Given the description of an element on the screen output the (x, y) to click on. 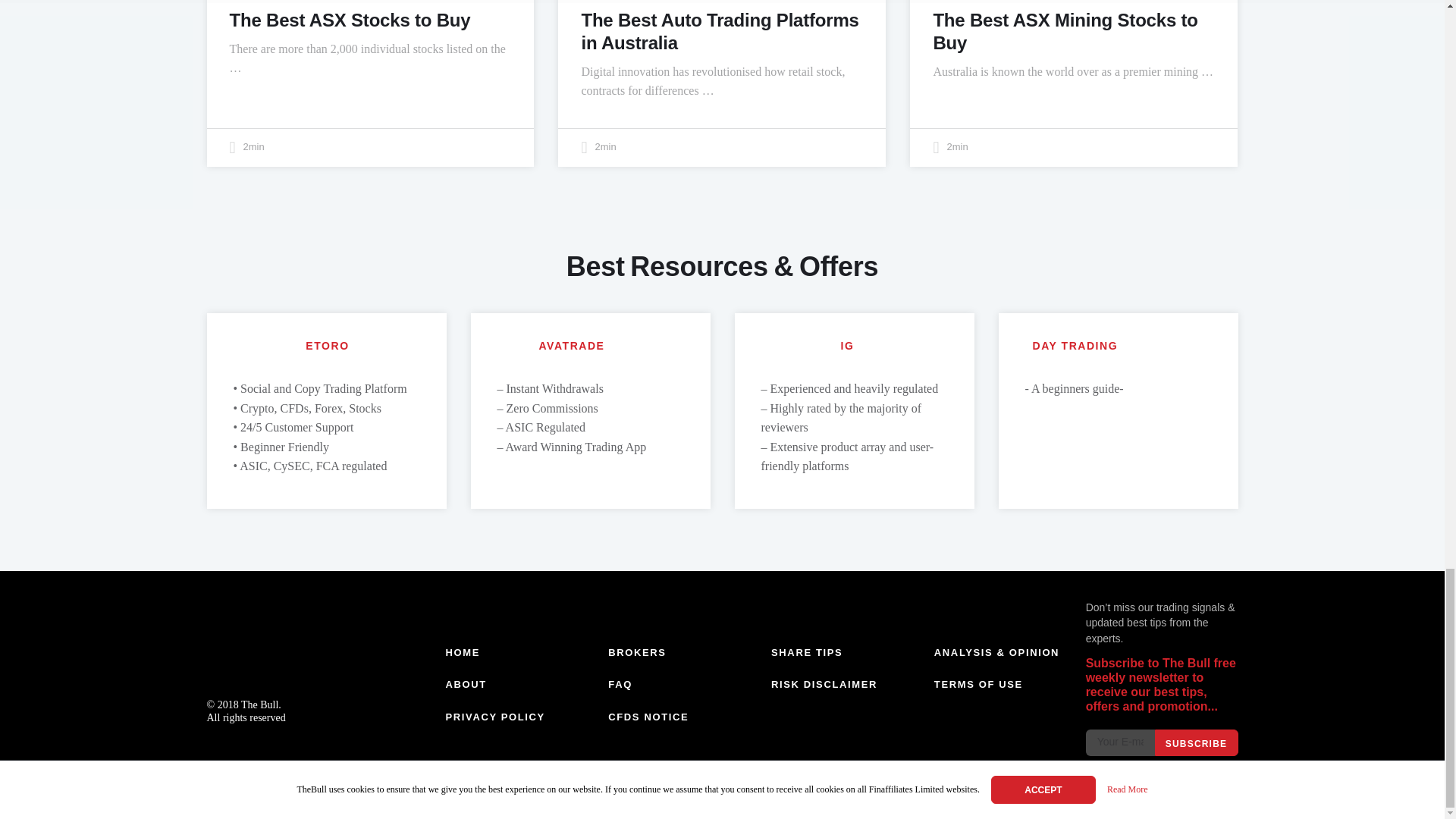
The Best ASX Mining Stocks to Buy (1064, 31)
The Best Auto Trading Platforms in Australia (719, 31)
Subscribe (1195, 742)
The Best ASX Stocks to Buy (349, 19)
